Given the description of an element on the screen output the (x, y) to click on. 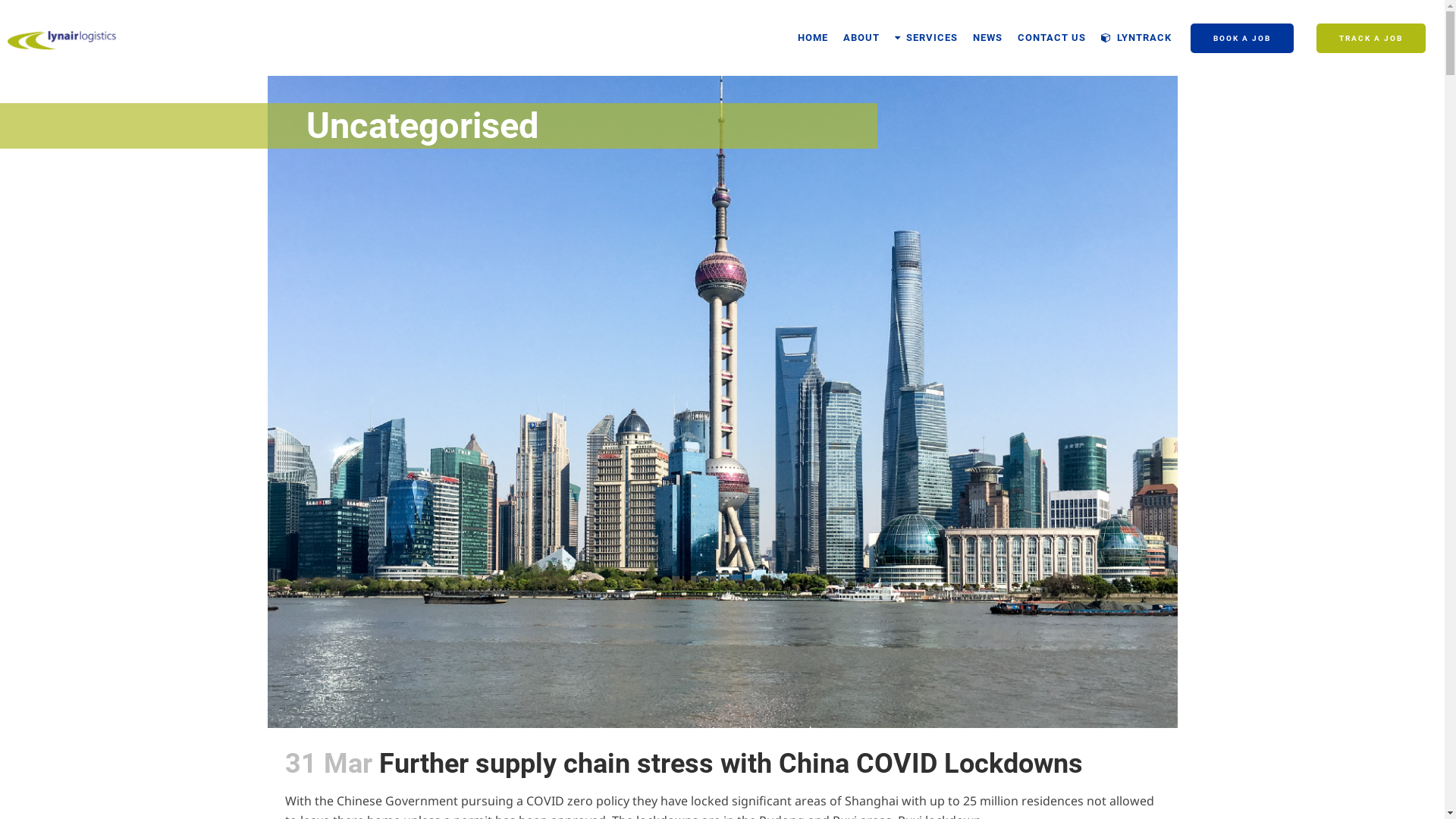
TRACK A JOB Element type: text (1370, 38)
TRACK A JOB Element type: text (1371, 37)
CONTACT US Element type: text (1051, 37)
ABOUT Element type: text (861, 37)
SERVICES Element type: text (926, 37)
LYNTRACK Element type: text (1136, 37)
HOME Element type: text (812, 37)
BOOK A JOB Element type: text (1241, 38)
Further supply chain stress with China COVID Lockdowns Element type: text (730, 763)
Further supply chain stress with China COVID Lockdowns Element type: hover (721, 364)
NEWS Element type: text (987, 37)
BOOK A JOB Element type: text (1242, 37)
